Given the description of an element on the screen output the (x, y) to click on. 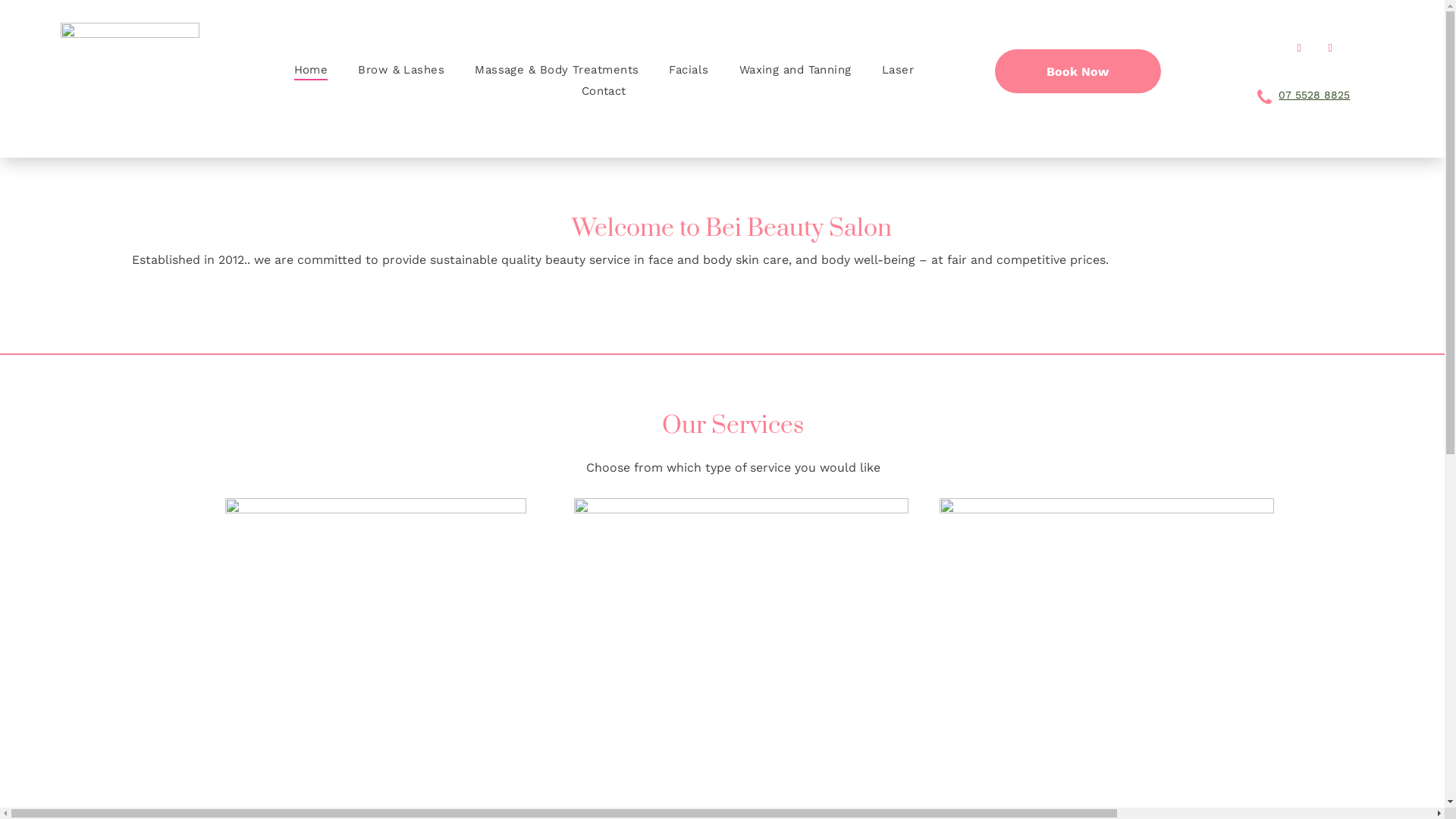
Laser Element type: text (897, 69)
Contact Element type: text (603, 90)
Waxing and Tanning Element type: text (795, 69)
07 5528 8825 Element type: text (1313, 94)
Facials Element type: text (688, 69)
Home Element type: text (311, 69)
Brow & Lashes Element type: text (400, 69)
Book Now Element type: text (1077, 71)
Massage & Body Treatments Element type: text (556, 69)
